Given the description of an element on the screen output the (x, y) to click on. 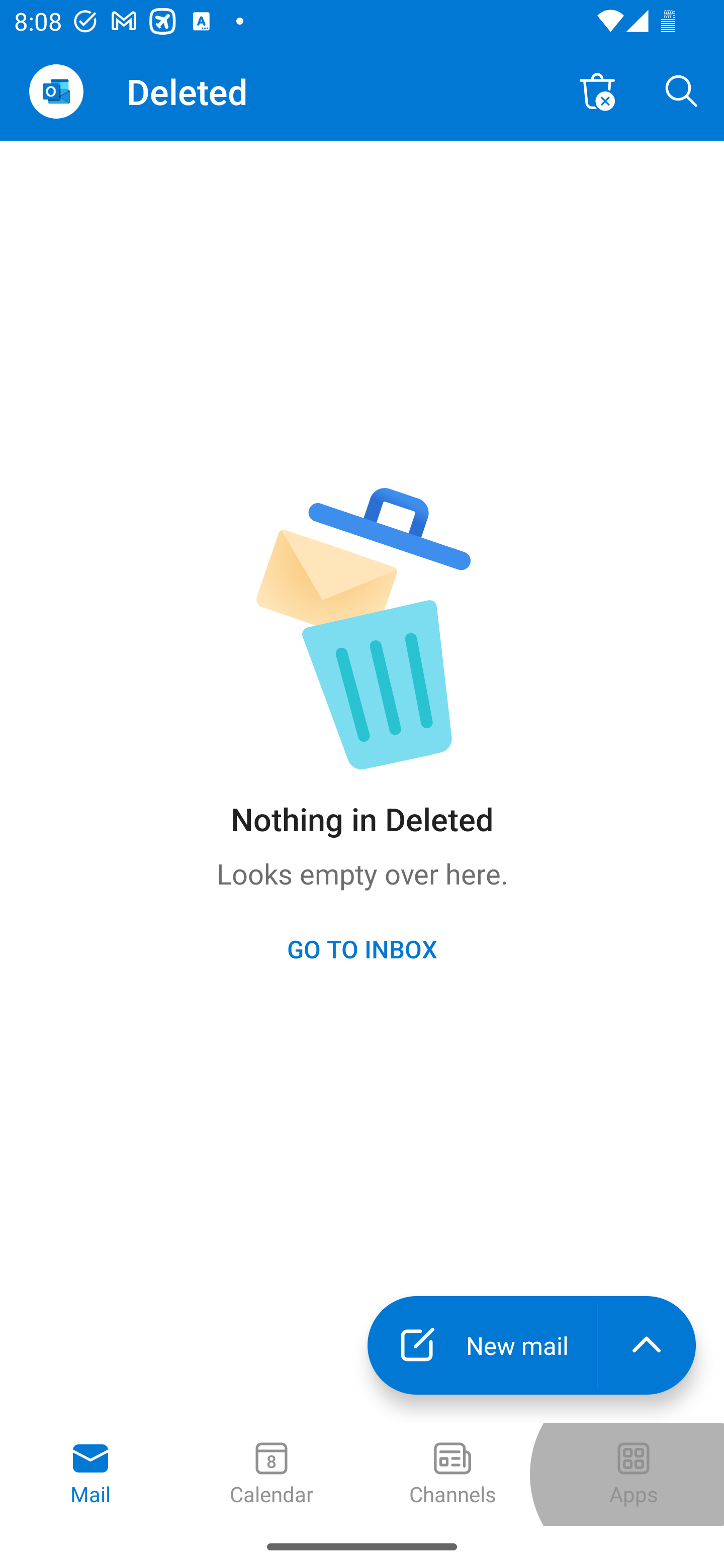
Empty Deleted (597, 90)
Search, ,  (681, 90)
Open Navigation Drawer (55, 91)
GO TO INBOX (362, 948)
New mail (481, 1344)
launch the extended action menu (646, 1344)
Calendar (271, 1474)
Channels (452, 1474)
Apps (633, 1474)
